Given the description of an element on the screen output the (x, y) to click on. 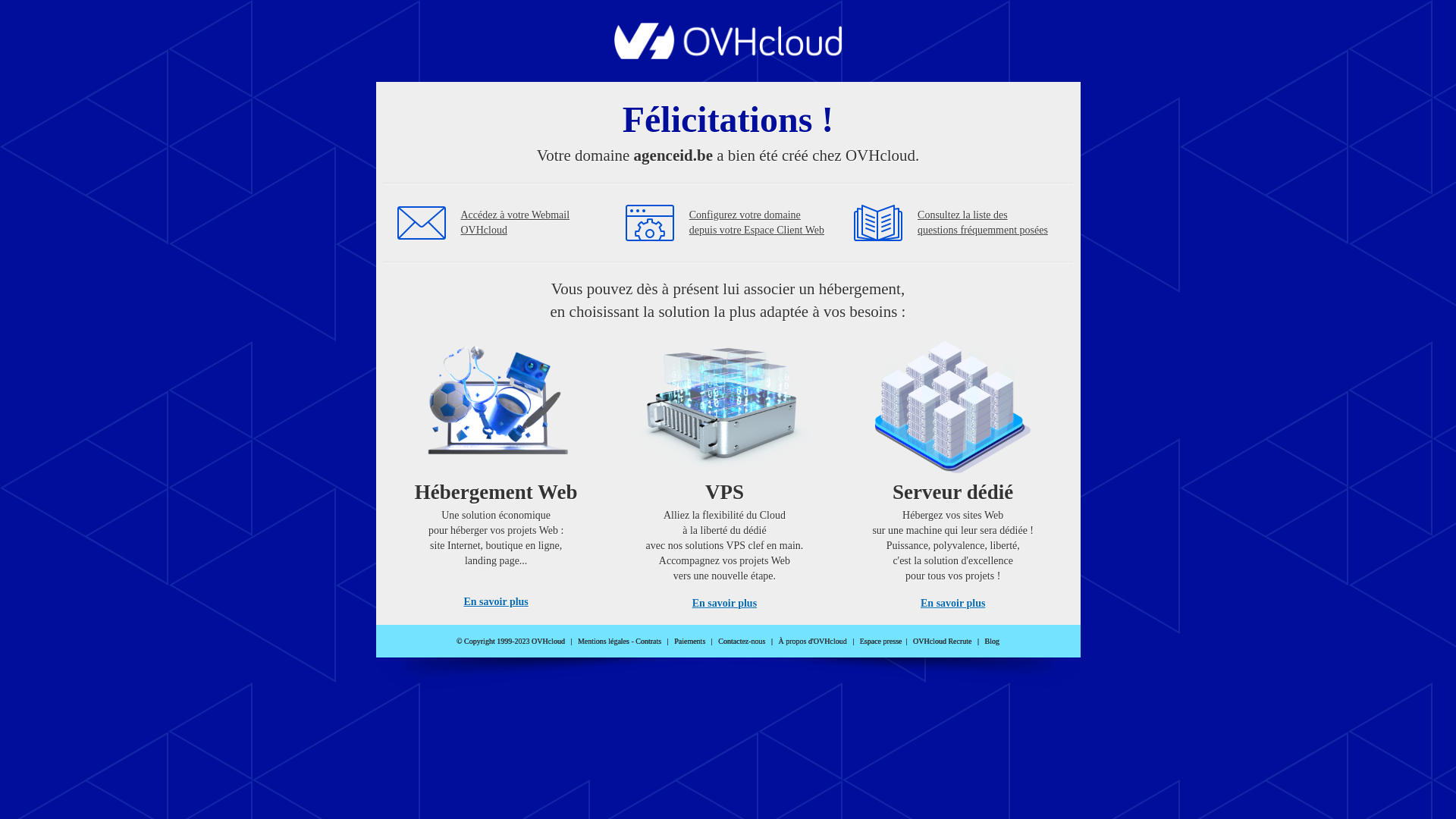
Contactez-nous Element type: text (741, 641)
Configurez votre domaine
depuis votre Espace Client Web Element type: text (756, 222)
En savoir plus Element type: text (952, 602)
VPS Element type: hover (724, 469)
OVHcloud Element type: hover (727, 54)
Espace presse Element type: text (880, 641)
En savoir plus Element type: text (495, 601)
Blog Element type: text (992, 641)
En savoir plus Element type: text (724, 602)
OVHcloud Recrute Element type: text (942, 641)
Paiements Element type: text (689, 641)
